Given the description of an element on the screen output the (x, y) to click on. 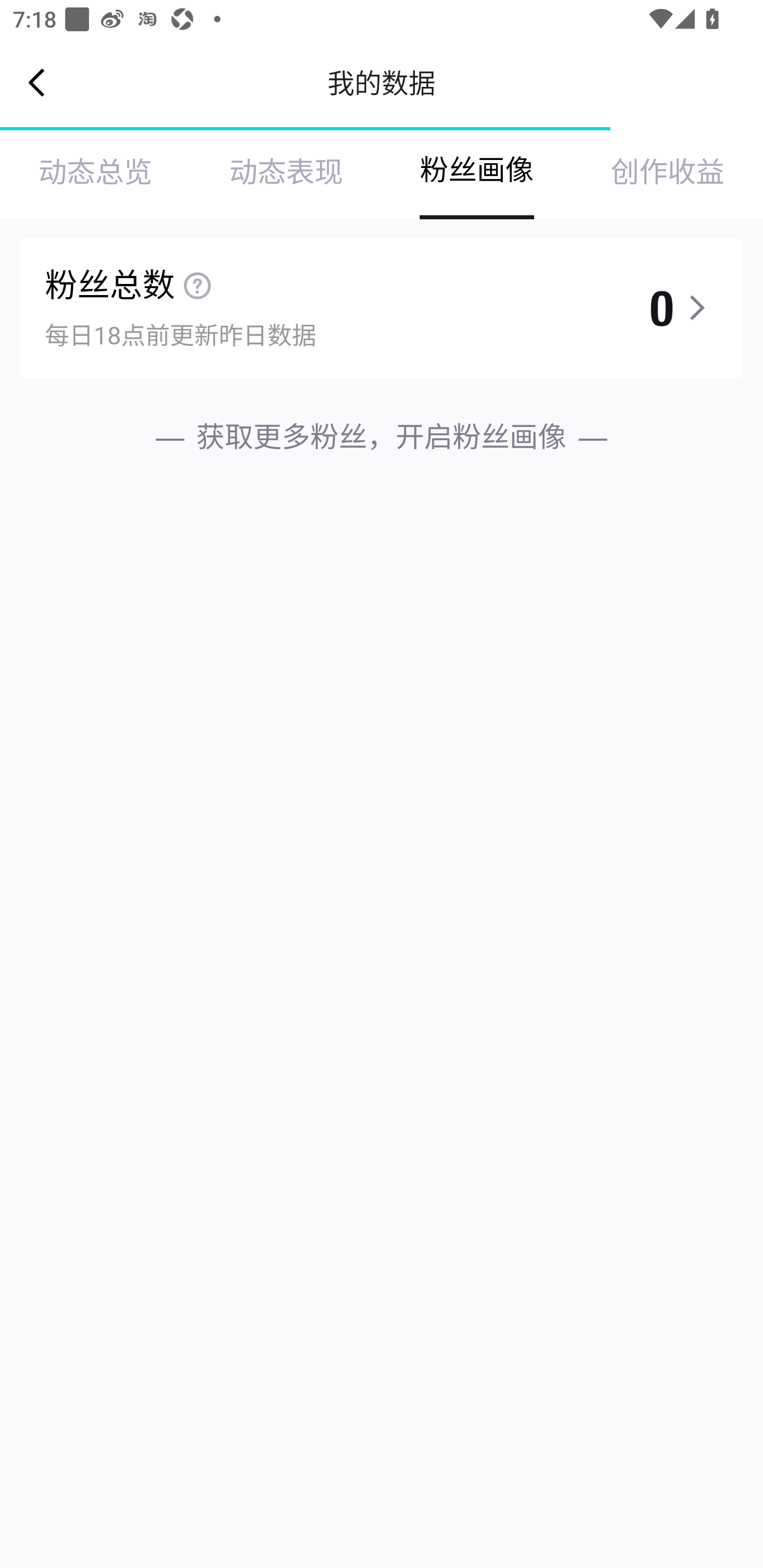
Navigate up (36, 82)
动态总览 (95, 173)
动态表现 (285, 173)
粉丝画像 (476, 173)
创作收益 (667, 173)
